Given the description of an element on the screen output the (x, y) to click on. 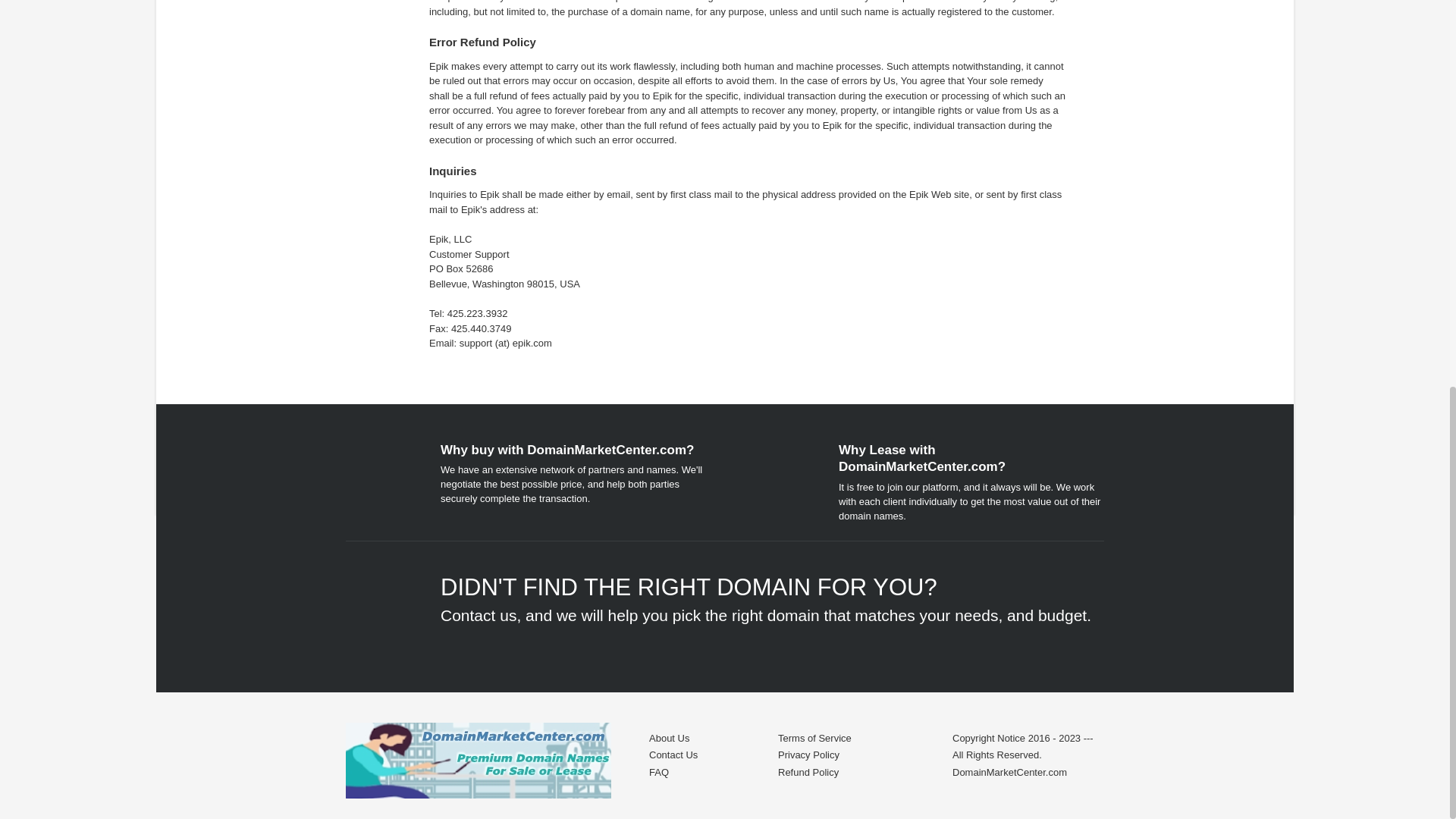
FAQ (658, 772)
Terms of Service (814, 737)
About Us (668, 737)
Privacy Policy (808, 754)
Contact Us (673, 754)
Refund Policy (807, 772)
